Given the description of an element on the screen output the (x, y) to click on. 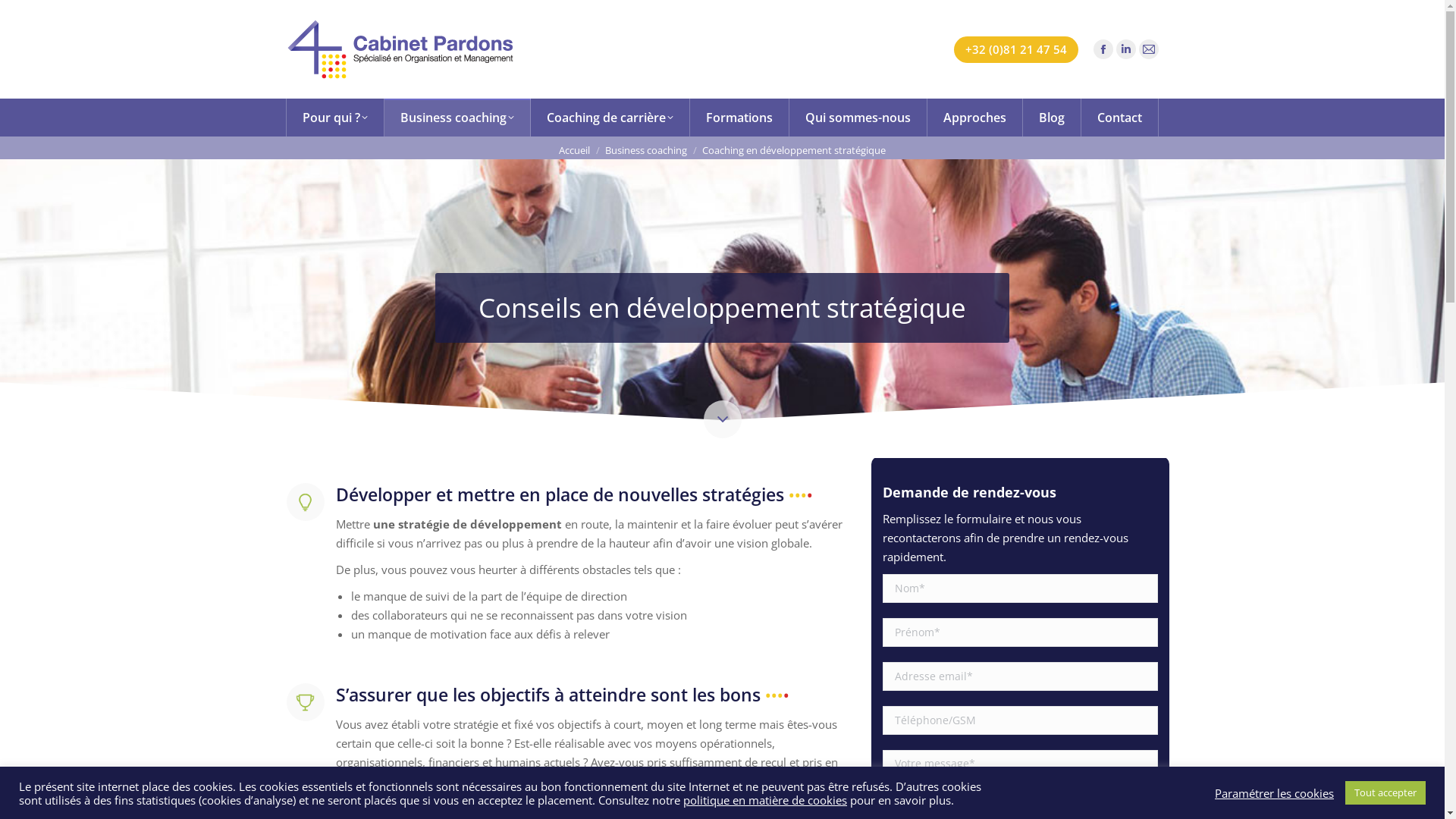
Formations Element type: text (739, 117)
Je m'abonne ! Element type: text (789, 624)
Approches Element type: text (974, 117)
Tout accepter Element type: text (1385, 792)
Blog Element type: text (1051, 117)
LinkedIn page opens in new window Element type: text (1125, 49)
Business coaching Element type: text (456, 117)
Accueil Element type: text (573, 149)
Approches Element type: text (322, 667)
Ok Element type: text (1102, 520)
Business coaching Element type: text (342, 533)
Pour qui ? Element type: text (320, 500)
Pour qui ? Element type: text (335, 117)
Facebook page opens in new window Element type: text (523, 572)
Poush Element type: text (325, 796)
Formations Element type: text (323, 600)
+32 (0)81 21 47 54 Element type: text (1015, 49)
Business coaching Element type: text (646, 149)
Blog Element type: text (306, 700)
Facebook page opens in new window Element type: text (1103, 49)
Contact Element type: text (1119, 117)
LinkedIn page opens in new window Element type: text (545, 572)
Qui sommes-nous Element type: text (341, 633)
Mail page opens in new window Element type: text (568, 572)
Qui sommes-nous Element type: text (857, 117)
Contact Element type: text (314, 733)
Mail page opens in new window Element type: text (1148, 49)
Accueil Element type: text (313, 467)
